Given the description of an element on the screen output the (x, y) to click on. 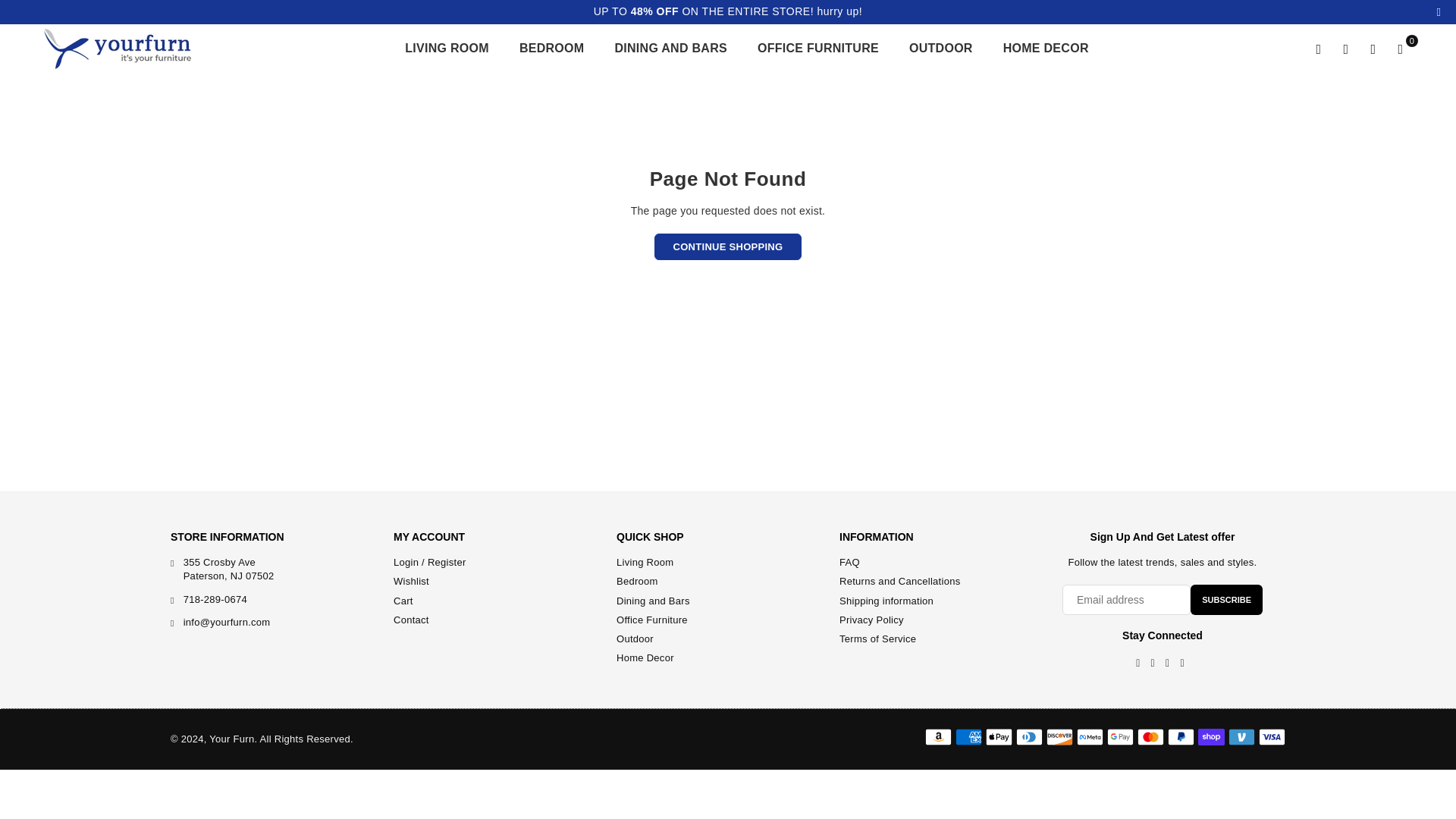
Diners Club (1029, 737)
Venmo (1241, 737)
Mastercard (1150, 737)
Your Furn on Facebook (1137, 663)
Amazon (938, 737)
Meta Pay (1090, 737)
Your Furn on Instagram (1167, 663)
Your Furn on YouTube (1181, 663)
Visa (1272, 737)
YOUR FURN (128, 48)
